Given the description of an element on the screen output the (x, y) to click on. 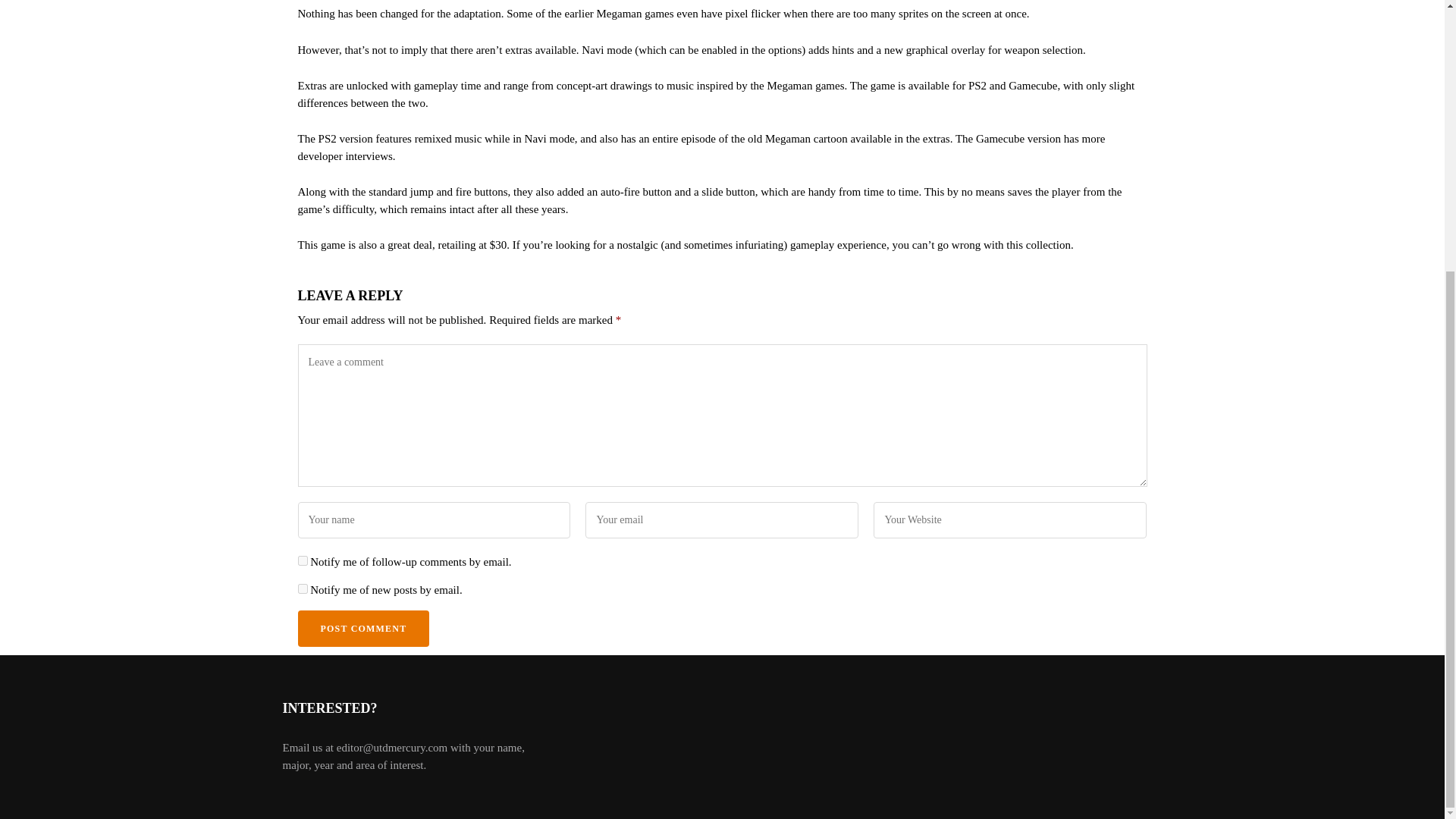
subscribe (302, 588)
subscribe (302, 560)
Post Comment (363, 628)
